Given the description of an element on the screen output the (x, y) to click on. 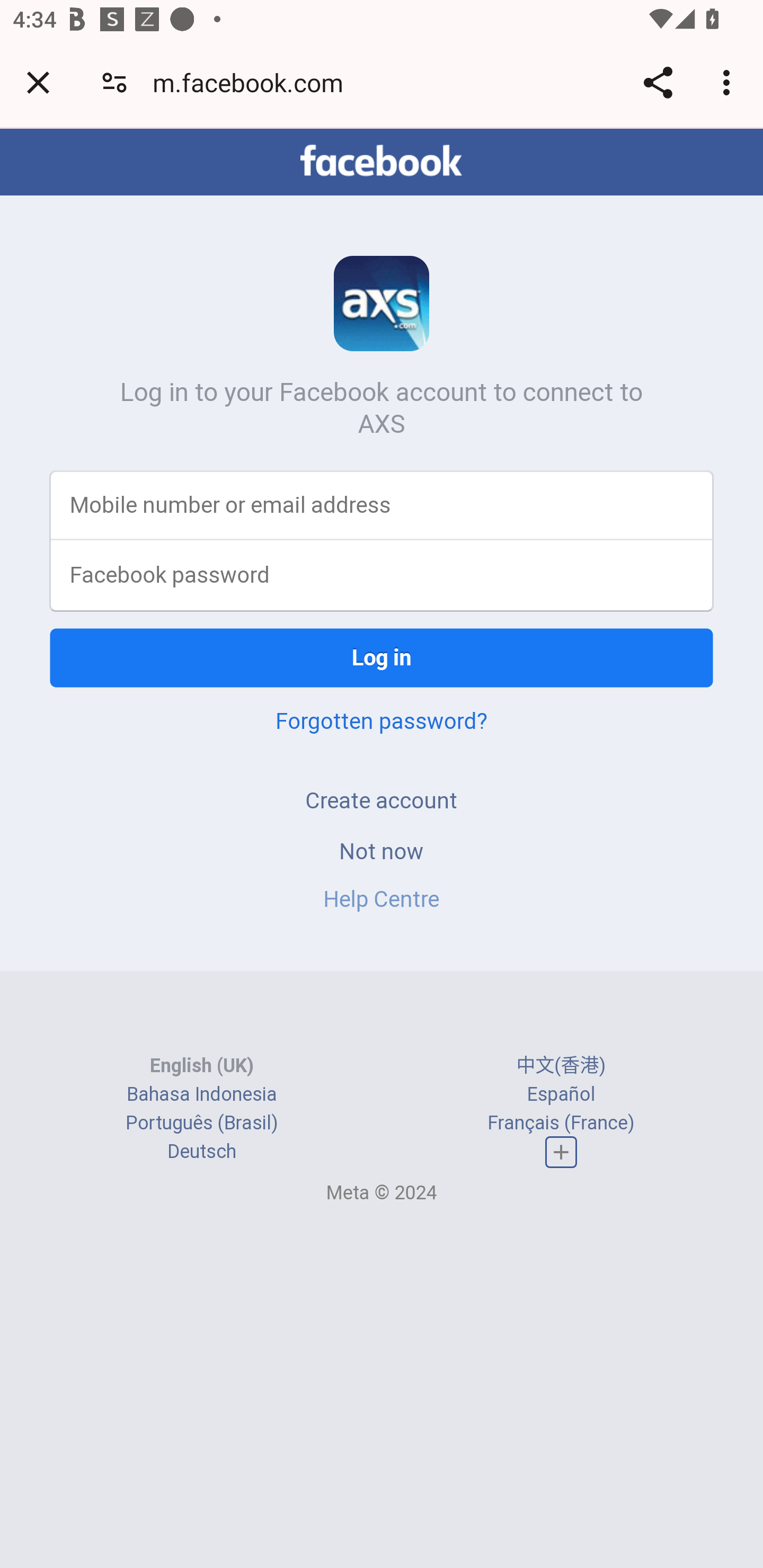
Close tab (38, 82)
Share (657, 82)
Customize and control Google Chrome (729, 82)
Connection is secure (114, 81)
m.facebook.com (254, 81)
facebook (381, 160)
Log in (381, 657)
Forgotten password? (381, 720)
Create account (381, 800)
Not now (381, 850)
Help Centre (381, 898)
中文(香港) (561, 1065)
Bahasa Indonesia (201, 1093)
Español (560, 1093)
Português (Brasil) (201, 1122)
Français (France) (560, 1122)
Complete list of languages (560, 1152)
Deutsch (201, 1151)
